Given the description of an element on the screen output the (x, y) to click on. 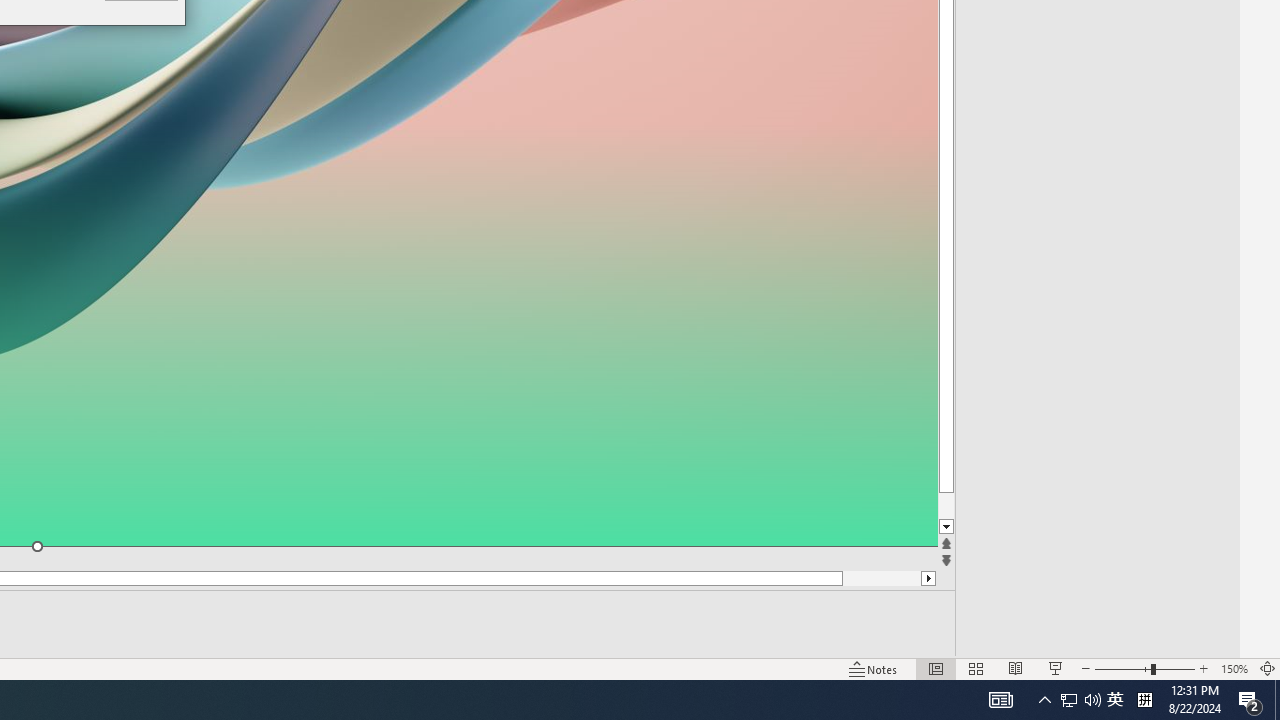
AutomationID: 4105 (1000, 699)
Zoom 150% (1234, 668)
User Promoted Notification Area (1115, 699)
